Given the description of an element on the screen output the (x, y) to click on. 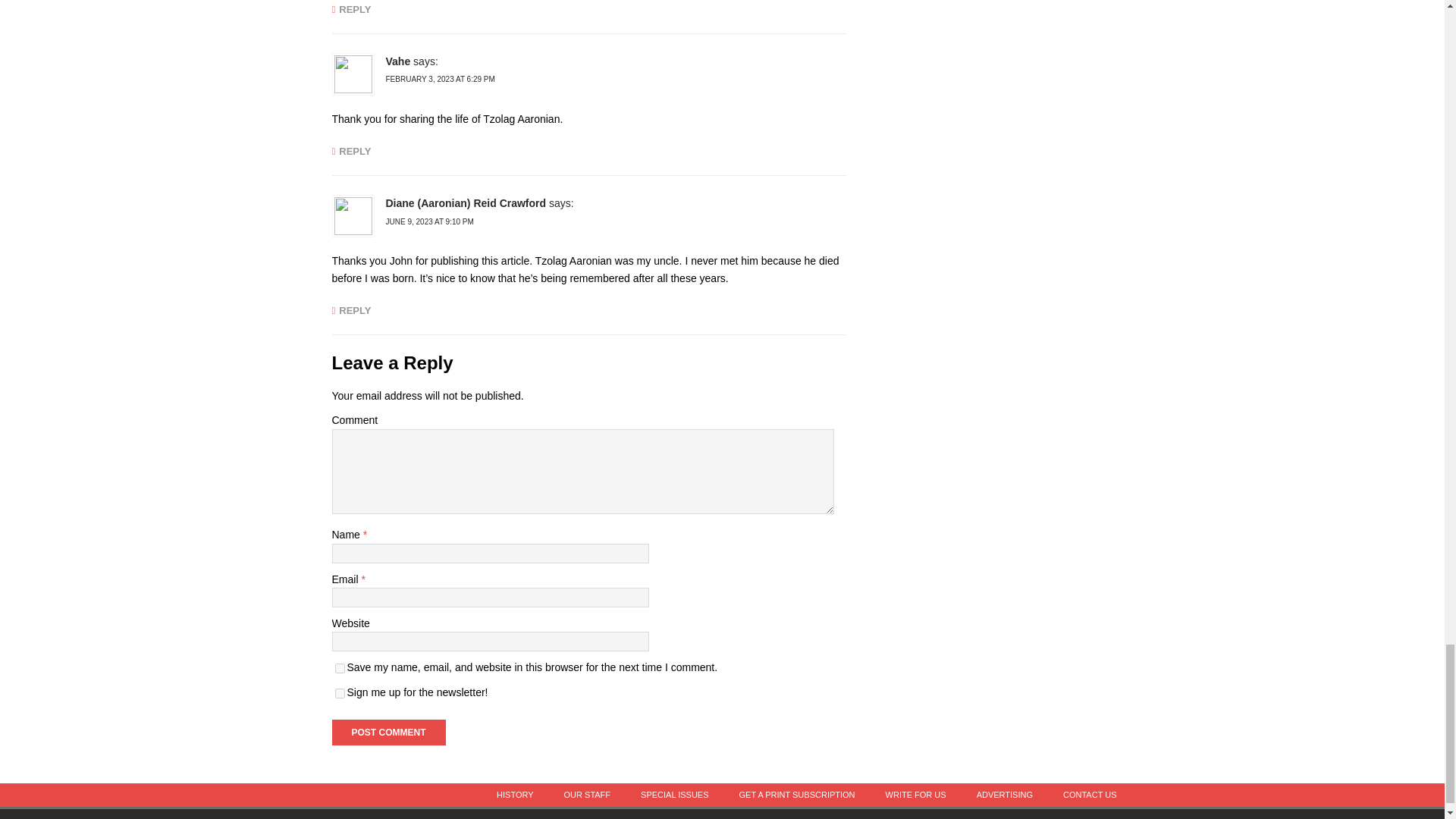
yes (339, 668)
1 (339, 693)
Post Comment (388, 732)
